Given the description of an element on the screen output the (x, y) to click on. 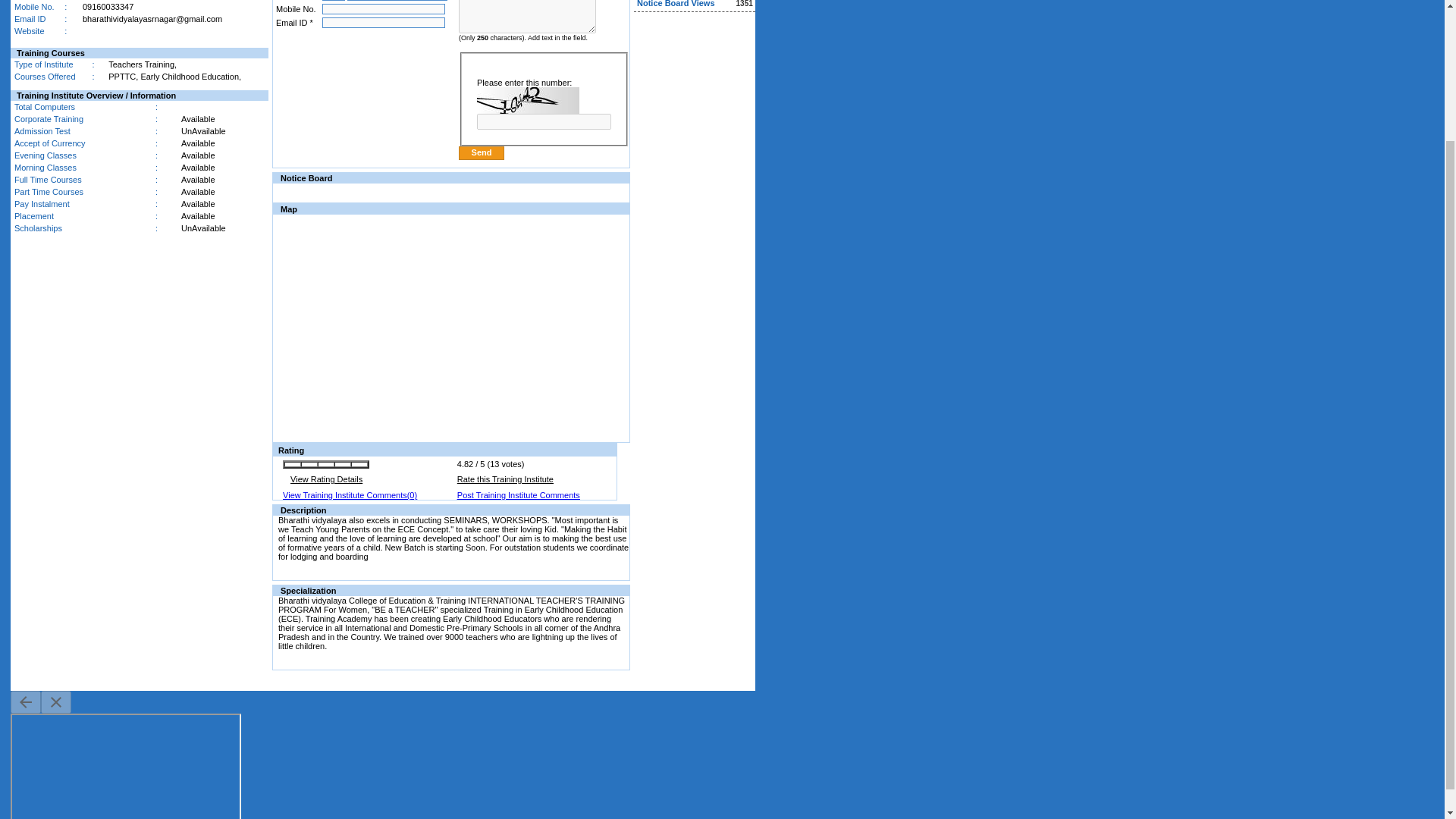
Send (480, 152)
View Rating Details (325, 479)
Post Training Institute Comments (518, 494)
Rate this Training Institute (505, 479)
